Given the description of an element on the screen output the (x, y) to click on. 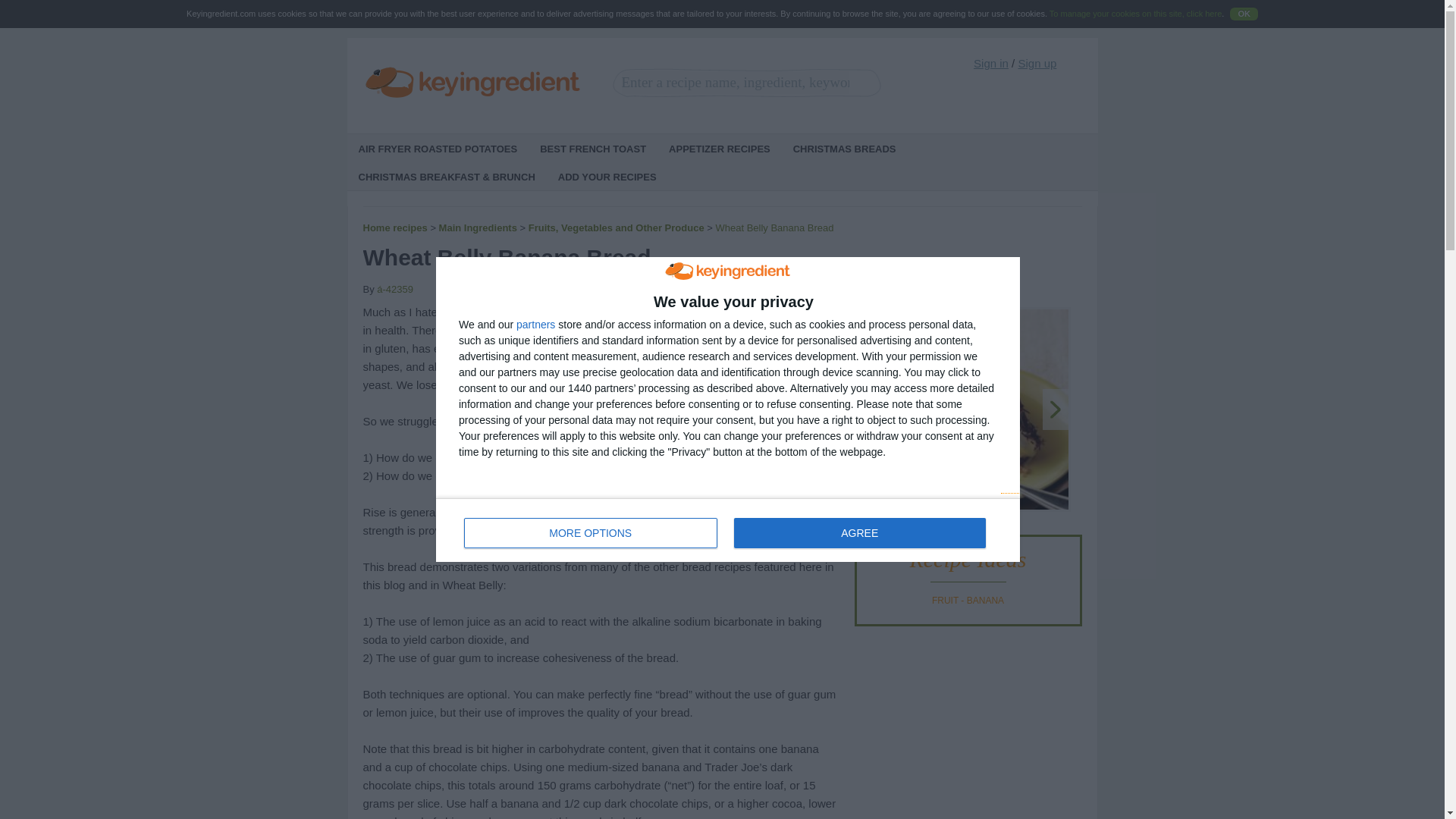
Keyingredient (472, 83)
OK (1243, 13)
CHRISTMAS BREADS (844, 148)
Fruits, Vegetables and Other Produce (616, 227)
Christmas Breads (844, 148)
APPETIZER RECIPES (719, 148)
To manage your cookies on this site, click here (1135, 13)
partners (535, 324)
Sign up (1037, 62)
BEST FRENCH TOAST (593, 148)
Main Ingredients (477, 227)
AIR FRYER ROASTED POTATOES (438, 148)
Sign in (991, 62)
AGREE (859, 532)
Home recipes (394, 227)
